Given the description of an element on the screen output the (x, y) to click on. 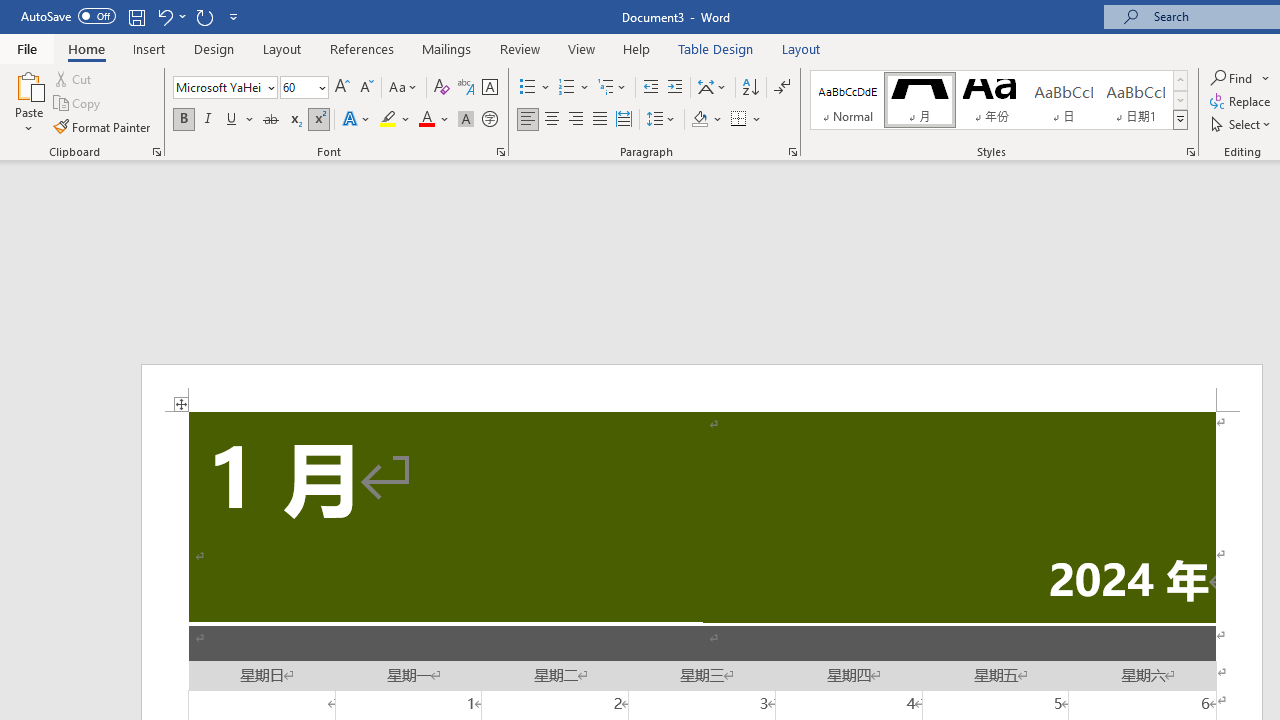
Bullets (527, 87)
Clear Formatting (442, 87)
Center (552, 119)
Insert (149, 48)
Text Highlight Color Yellow (388, 119)
Character Border (489, 87)
Strikethrough (270, 119)
Paste (28, 102)
Office Clipboard... (156, 151)
Line and Paragraph Spacing (661, 119)
Increase Indent (675, 87)
Text Effects and Typography (357, 119)
More Options (1266, 78)
Mailings (447, 48)
Bullets (535, 87)
